Given the description of an element on the screen output the (x, y) to click on. 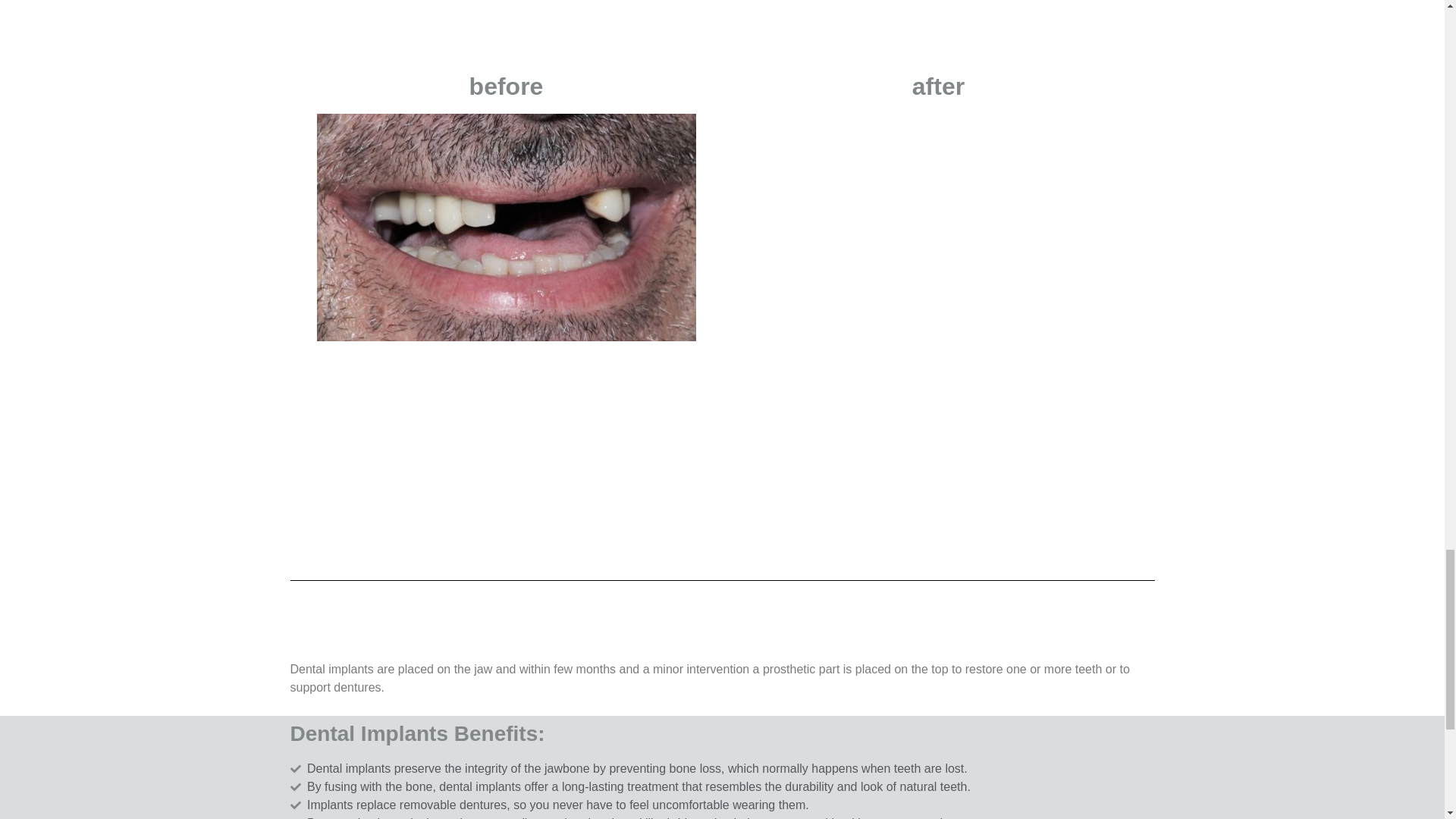
Dental Prosthesis Implants 1 (506, 227)
